Given the description of an element on the screen output the (x, y) to click on. 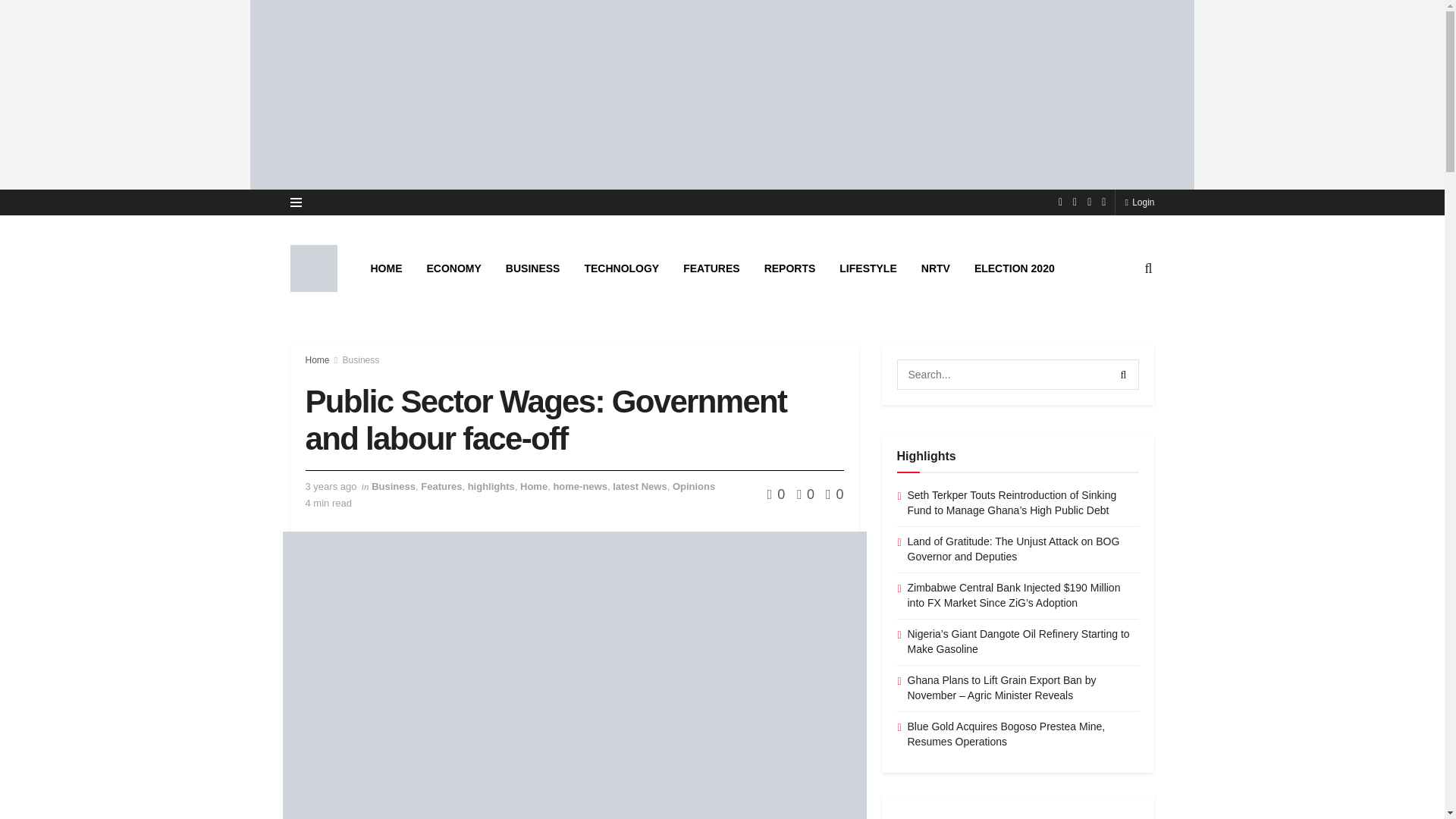
TECHNOLOGY (621, 268)
ECONOMY (453, 268)
BUSINESS (532, 268)
Login (1139, 202)
HOME (385, 268)
FEATURES (711, 268)
REPORTS (790, 268)
